Given the description of an element on the screen output the (x, y) to click on. 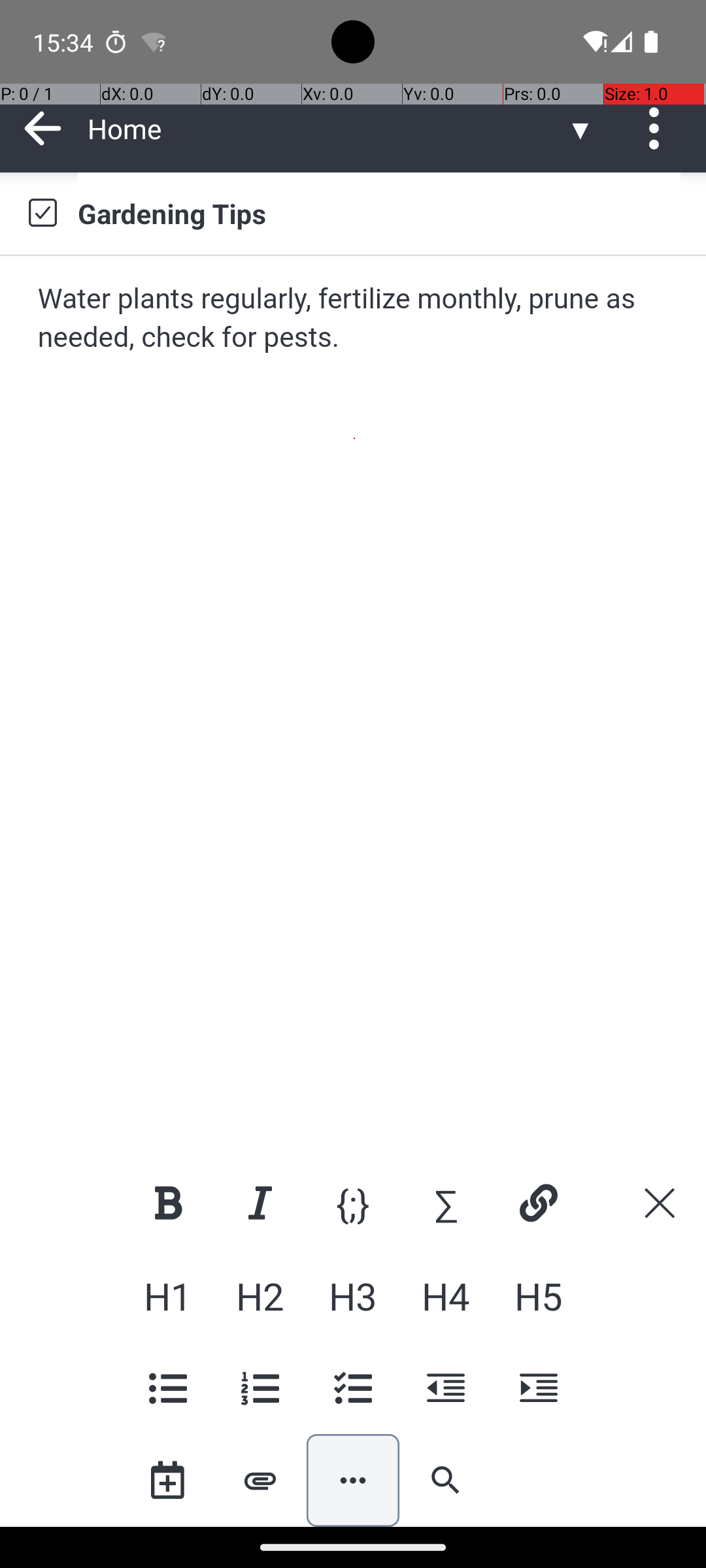
KaTeX Element type: android.widget.Button (445, 1202)
Header 1 Element type: android.widget.Button (167, 1295)
Header 2 Element type: android.widget.Button (259, 1295)
Header 3 Element type: android.widget.Button (352, 1295)
Header 4 Element type: android.widget.Button (445, 1295)
Header 5 Element type: android.widget.Button (538, 1295)
Decrease indent level Element type: android.widget.Button (445, 1387)
Increase indent level Element type: android.widget.Button (538, 1387)
Insert time Element type: android.widget.Button (167, 1480)
Hide more actions Element type: android.widget.Button (352, 1480)
Water plants regularly, fertilize monthly, prune as needed, check for pests. Element type: android.widget.EditText (354, 318)
